Given the description of an element on the screen output the (x, y) to click on. 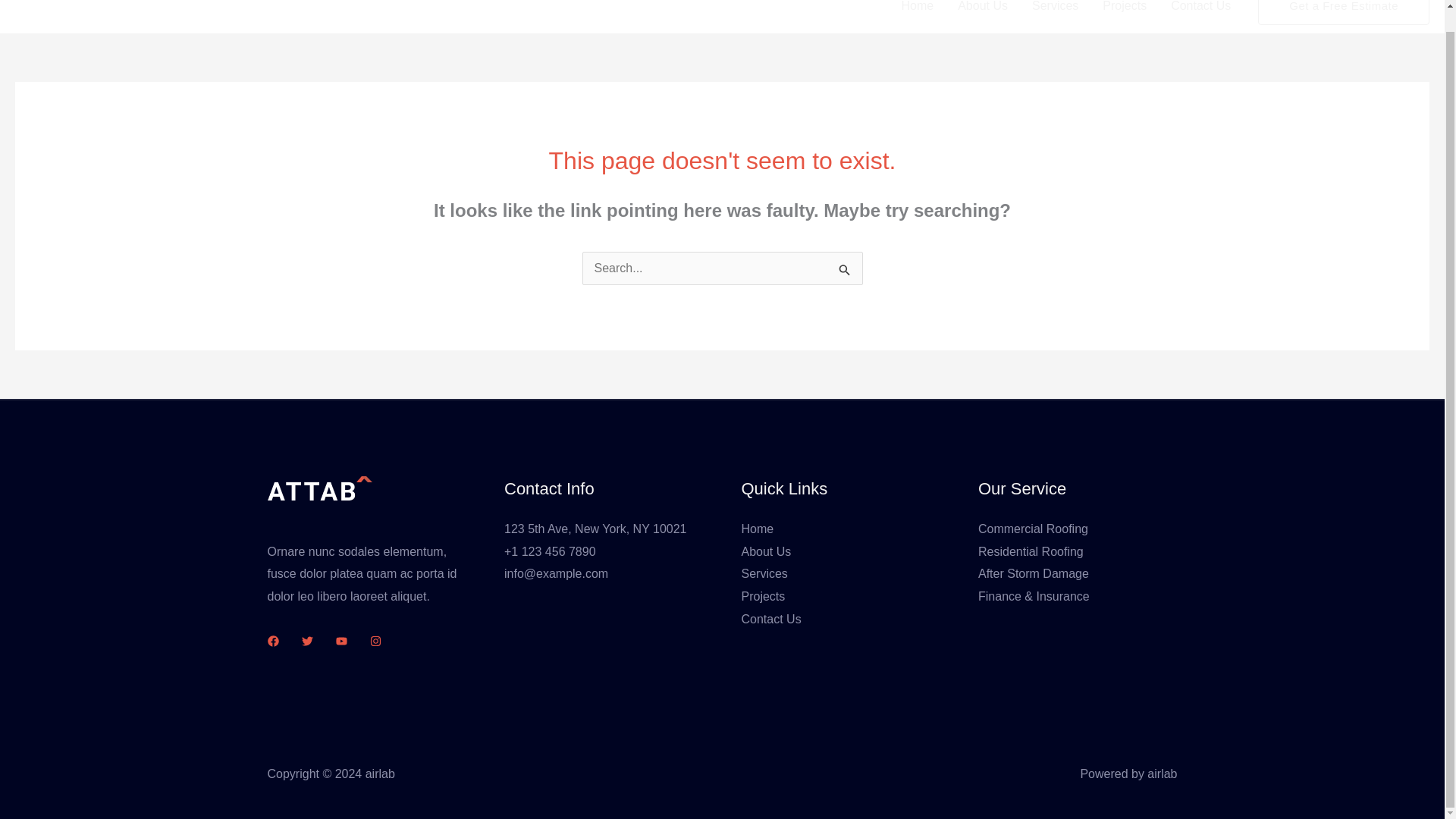
Get a Free Estimate (1343, 12)
Commercial Roofing (1032, 528)
Home (757, 528)
About Us (982, 16)
After Storm Damage (1033, 573)
Contact Us (771, 618)
Residential Roofing (1030, 551)
Services (1055, 16)
Services (764, 573)
Projects (763, 595)
123 5th Ave, New York, NY 10021 (594, 528)
About Us (766, 551)
Contact Us (1200, 16)
Home (916, 16)
Projects (1124, 16)
